Given the description of an element on the screen output the (x, y) to click on. 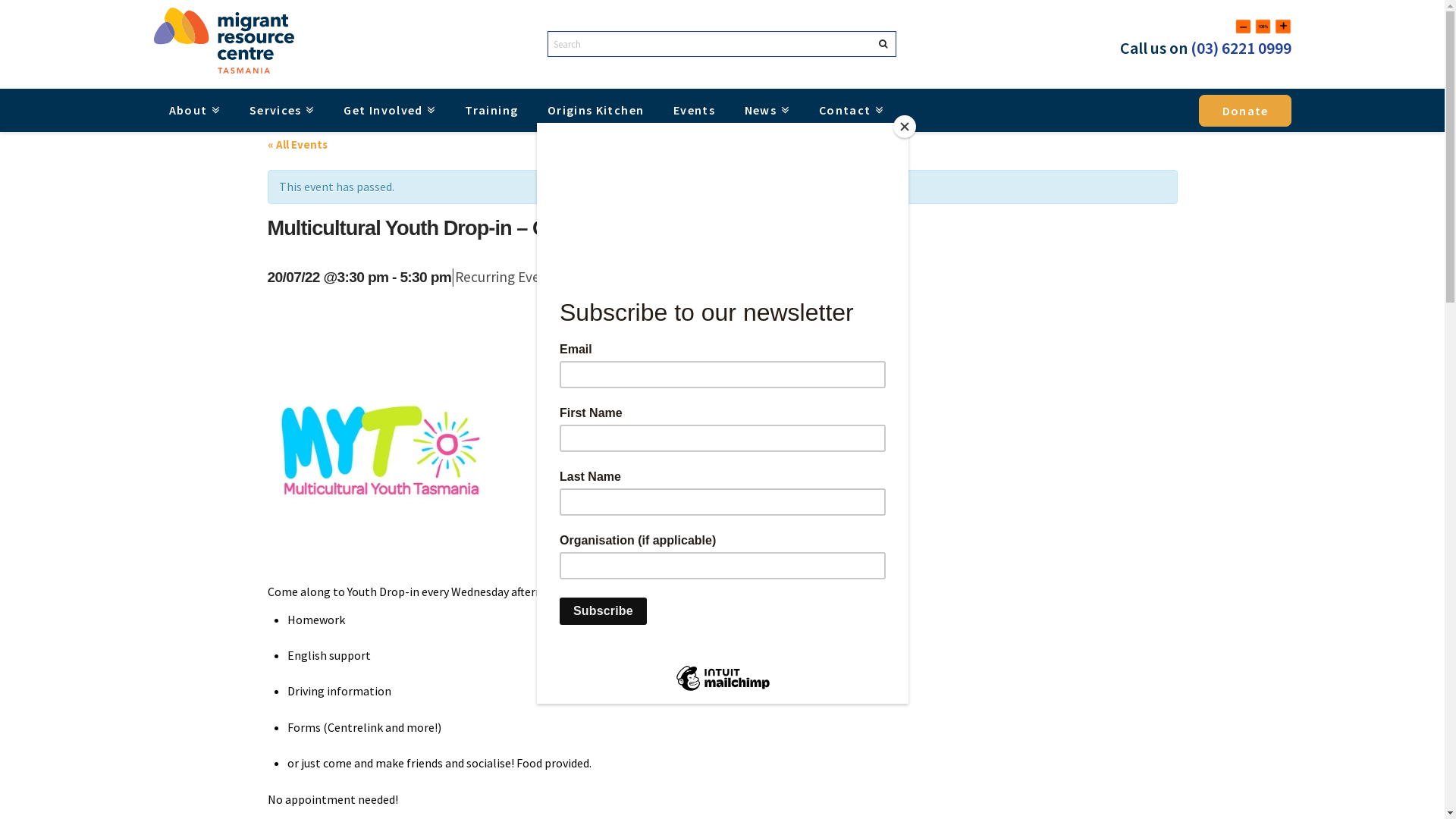
News Element type: text (766, 109)
(See all) Element type: text (582, 276)
Events Element type: text (693, 109)
Origins Kitchen Element type: text (595, 109)
Training Element type: text (490, 109)
Services Element type: text (281, 109)
Get Involved Element type: text (388, 109)
About Element type: text (193, 109)
Contact Element type: text (850, 109)
Donate Element type: text (1244, 110)
(03) 6221 0999 Element type: text (1240, 47)
